Given the description of an element on the screen output the (x, y) to click on. 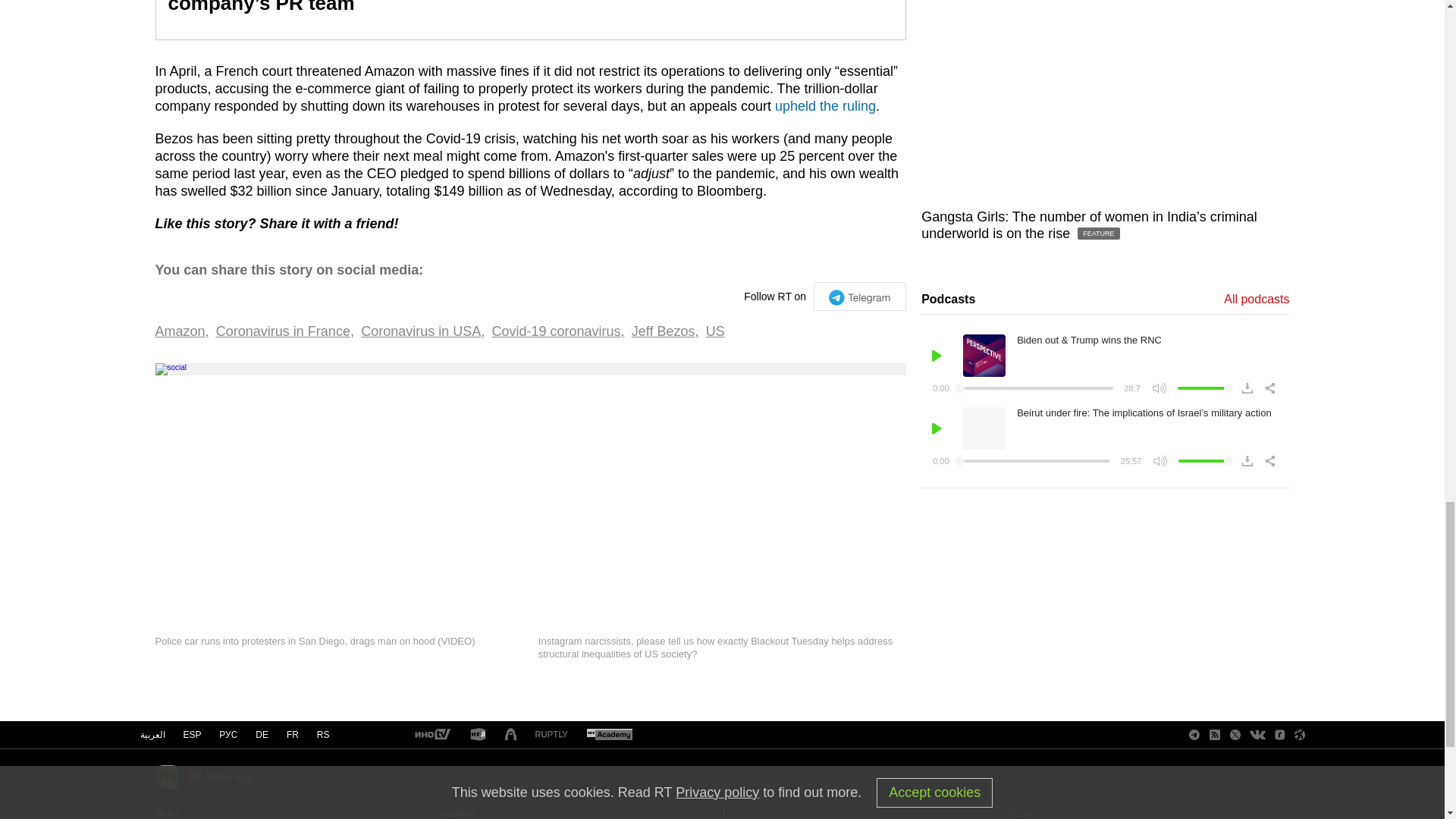
RT  (431, 735)
RT  (608, 735)
RT  (551, 735)
RT  (478, 735)
